Given the description of an element on the screen output the (x, y) to click on. 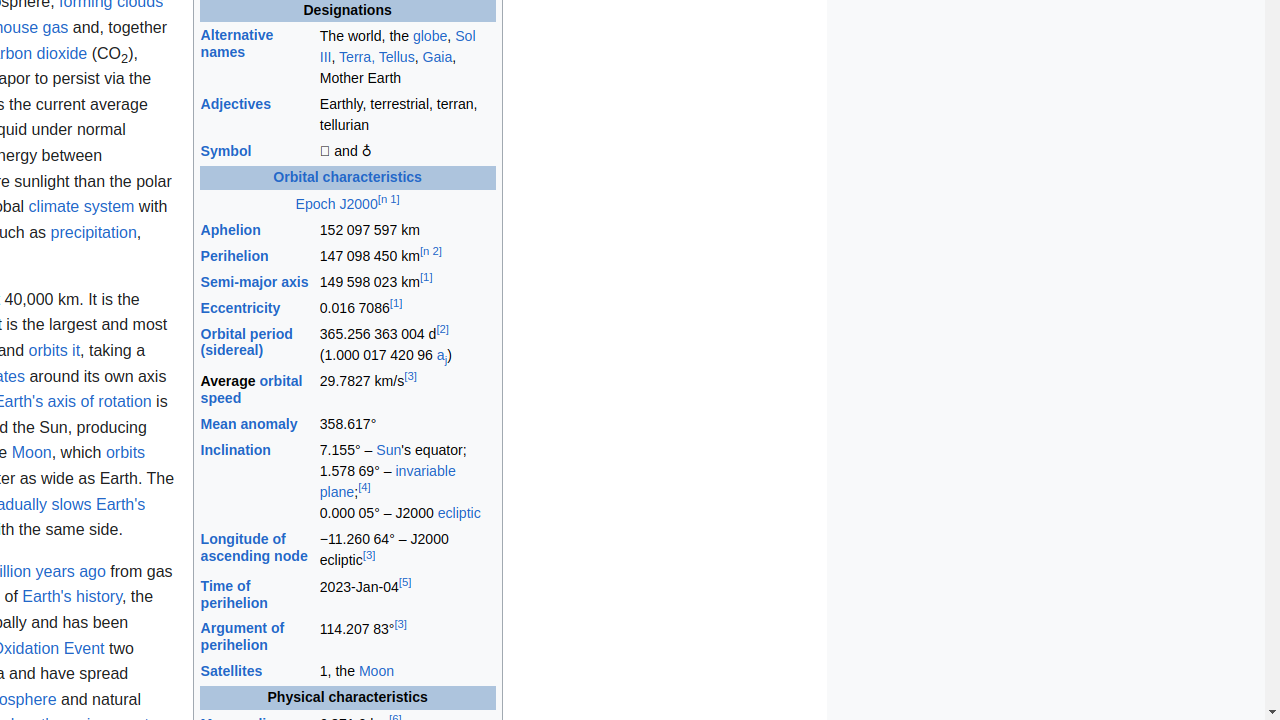
29.7827 km/s[3] Element type: table-cell (407, 389)
365.256363004 d[2] (1.00001742096 aj) Element type: table-cell (407, 345)
Moon Element type: link (376, 671)
[2] Element type: link (442, 329)
j Element type: link (446, 355)
